Given the description of an element on the screen output the (x, y) to click on. 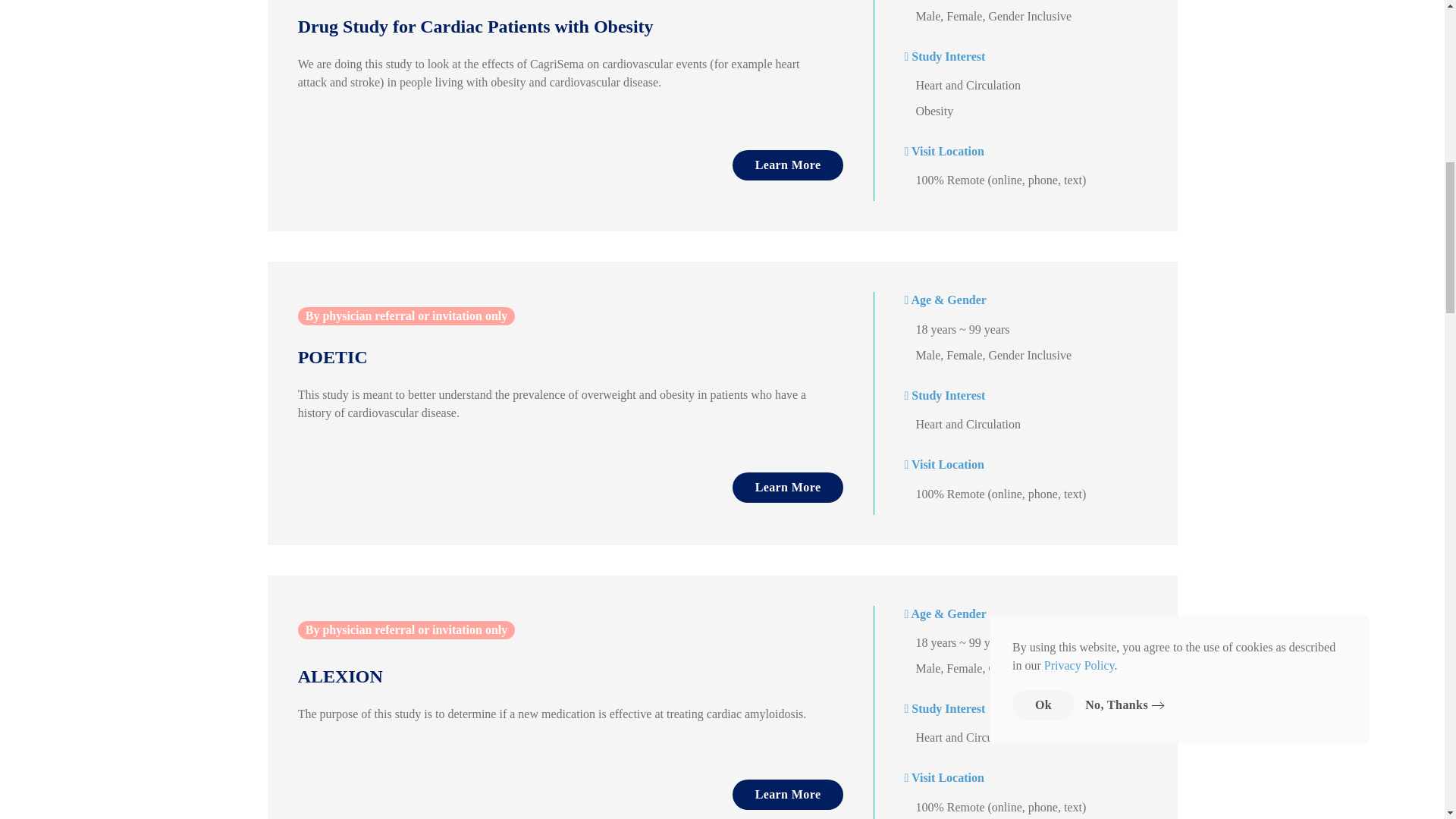
Learn More (788, 487)
Learn More (788, 164)
Learn More (788, 794)
Drug Study for Cardiac Patients with Obesity (555, 27)
POETIC (555, 357)
ALEXION (555, 677)
